Given the description of an element on the screen output the (x, y) to click on. 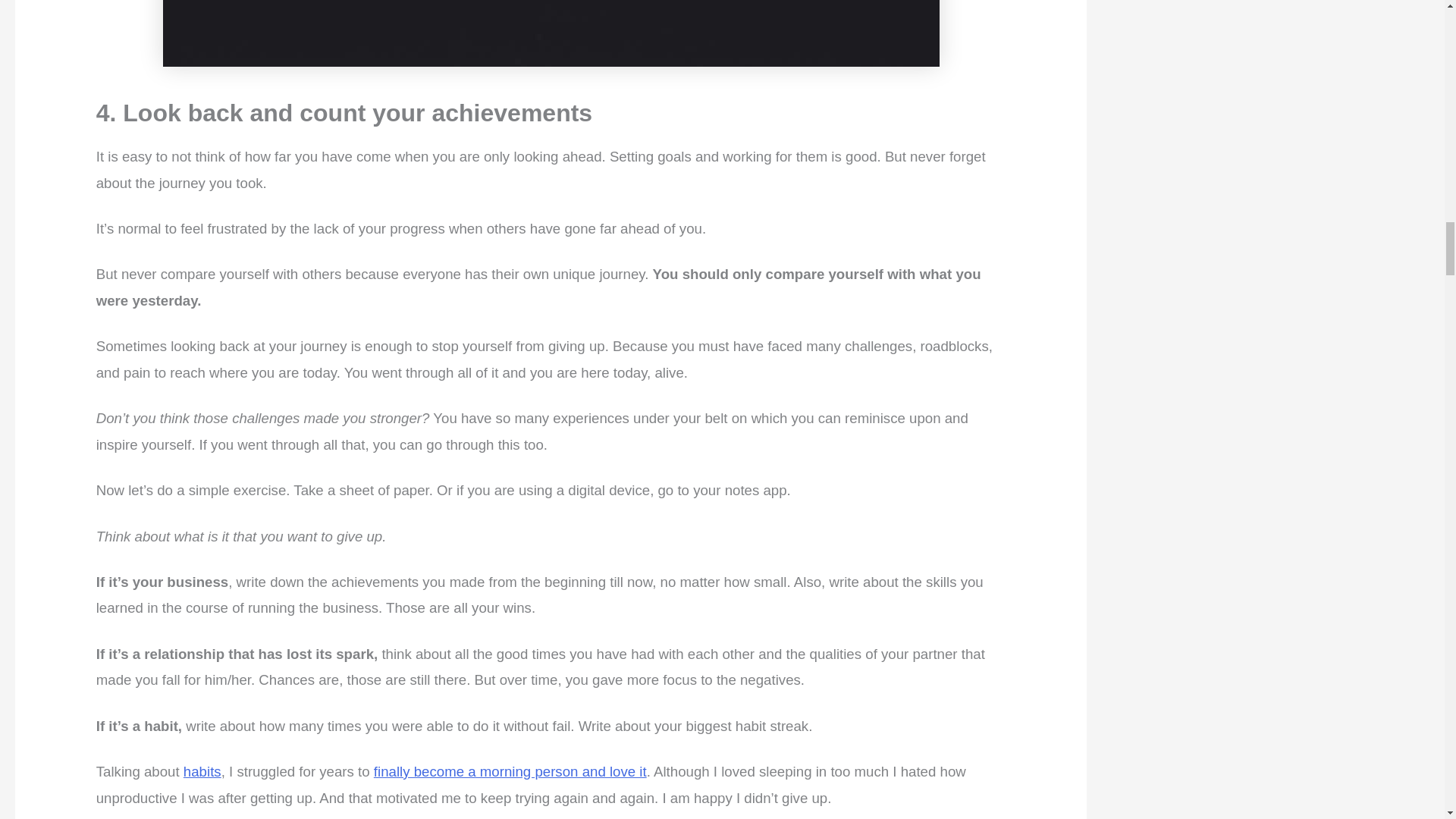
finally become a morning person and love it (510, 771)
habits (202, 771)
